Given the description of an element on the screen output the (x, y) to click on. 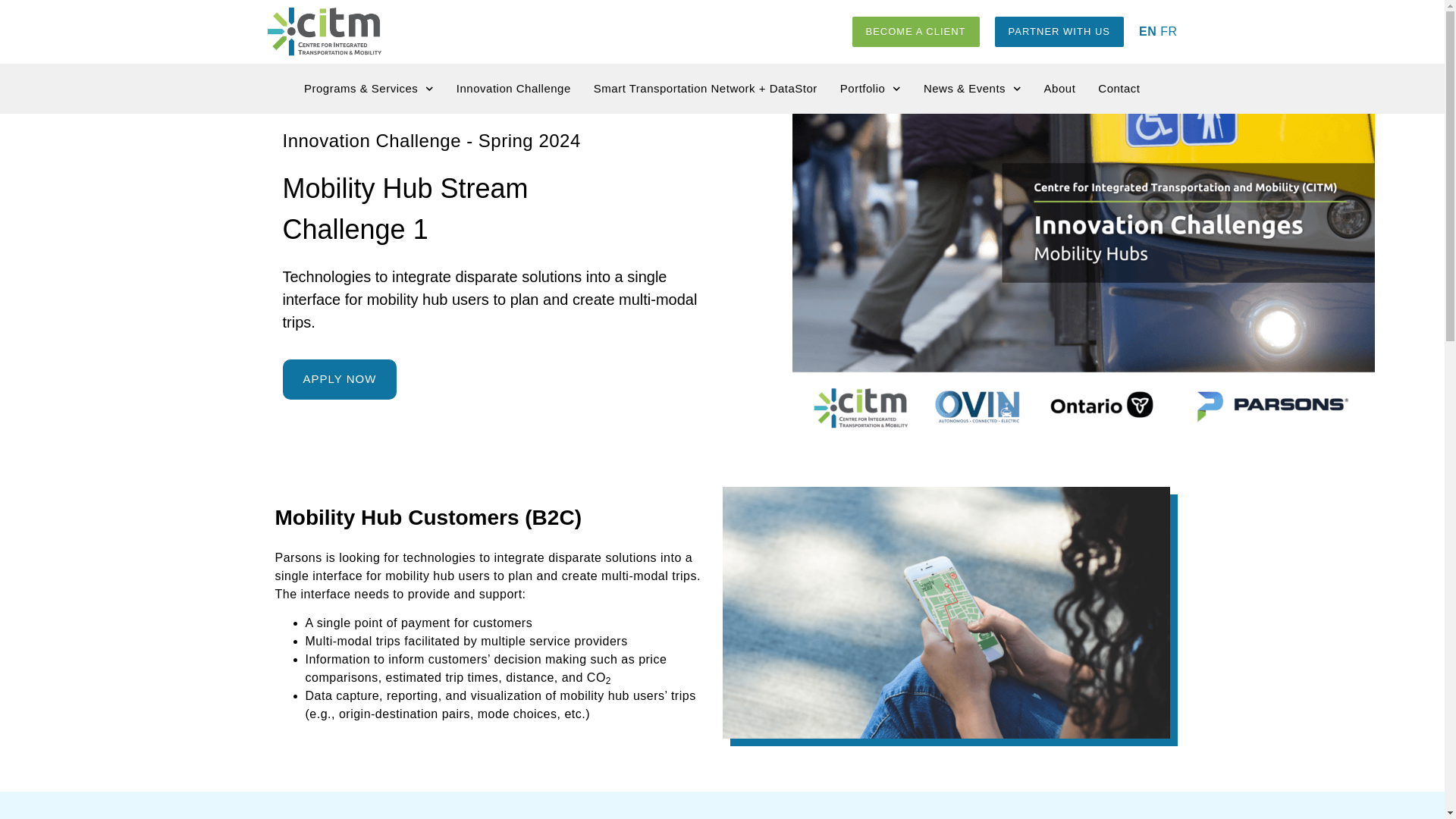
About (1059, 88)
Contact (1118, 88)
Portfolio (870, 88)
Innovation Challenge (513, 88)
PARTNER WITH US (1059, 31)
APPLY NOW (339, 379)
English (1147, 31)
BECOME A CLIENT (915, 31)
FR (1168, 31)
EN (1147, 31)
